Given the description of an element on the screen output the (x, y) to click on. 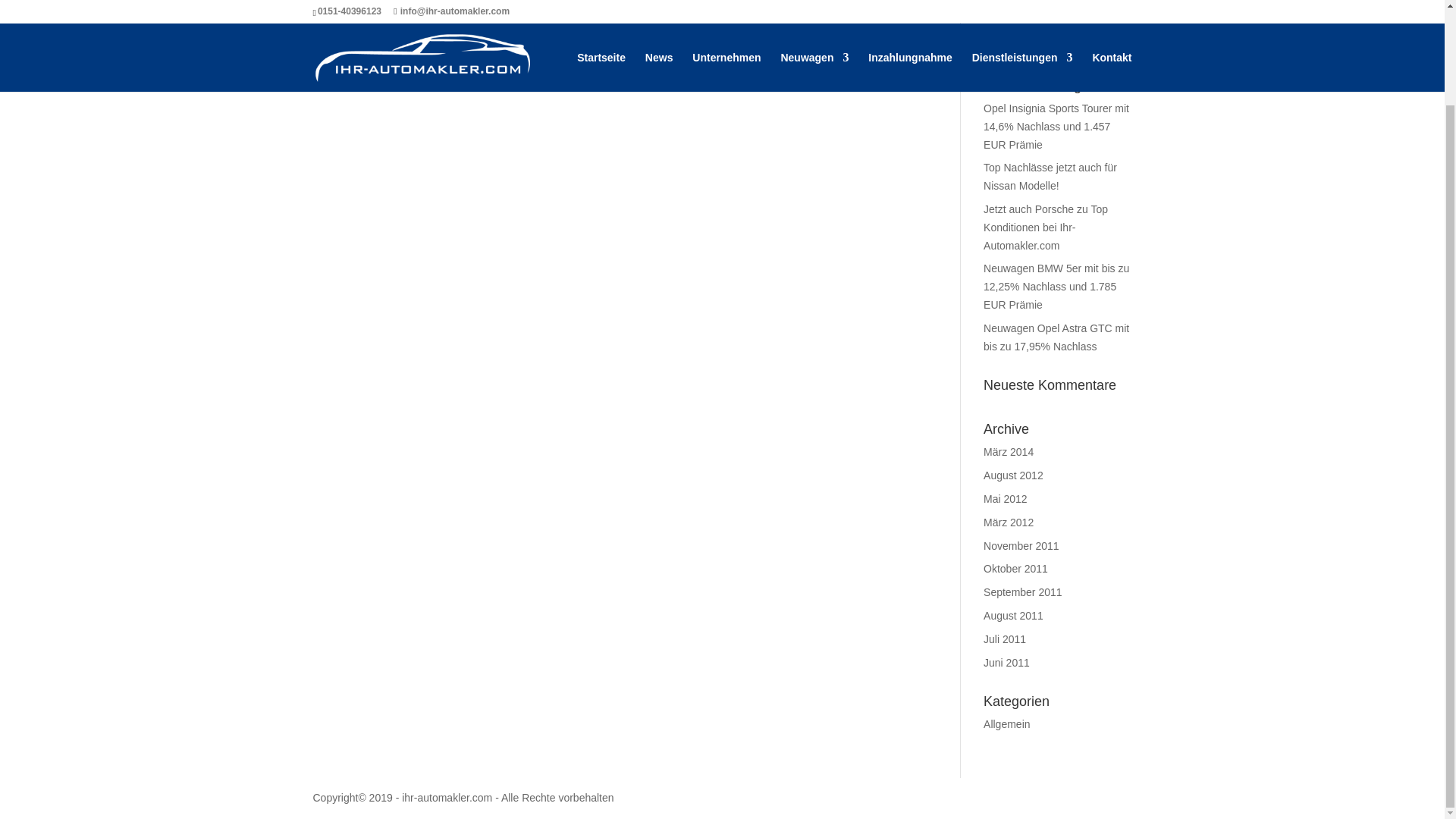
Jetzt auch Porsche zu Top Konditionen bei Ihr-Automakler.com (1046, 227)
Suche (1107, 40)
Suche (1107, 40)
